Given the description of an element on the screen output the (x, y) to click on. 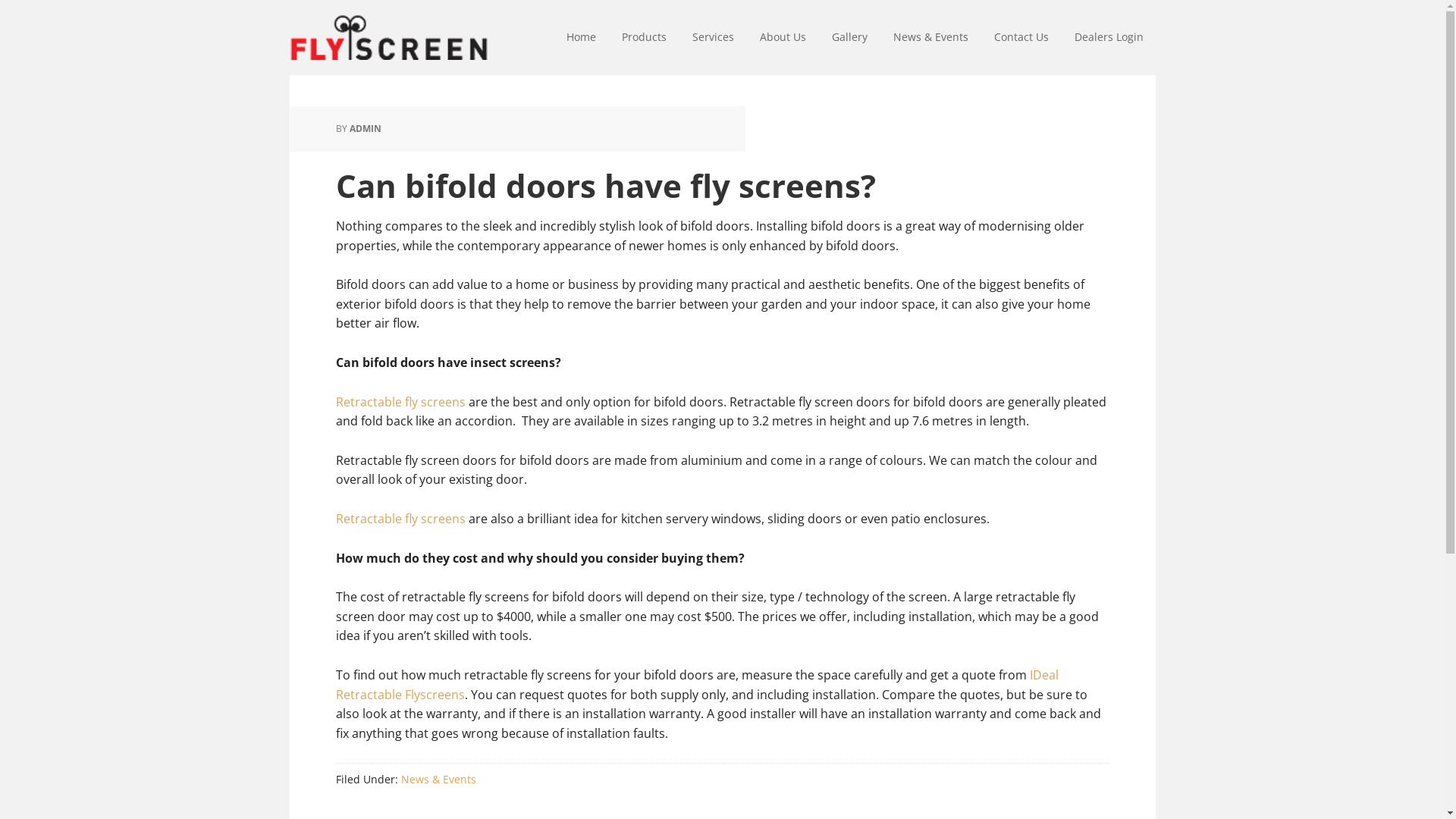
Home Element type: text (581, 37)
Contact Us Element type: text (1021, 37)
News & Events Element type: text (437, 778)
IDeal Retractable Flyscreens Element type: text (696, 684)
News & Events Element type: text (930, 37)
ADMIN Element type: text (364, 128)
About Us Element type: text (781, 37)
Products Element type: text (643, 37)
Dealers Login Element type: text (1108, 37)
Retractable fly screens Element type: text (399, 518)
Gallery Element type: text (849, 37)
Services Element type: text (712, 37)
Retractable fly screens Element type: text (399, 401)
